Given the description of an element on the screen output the (x, y) to click on. 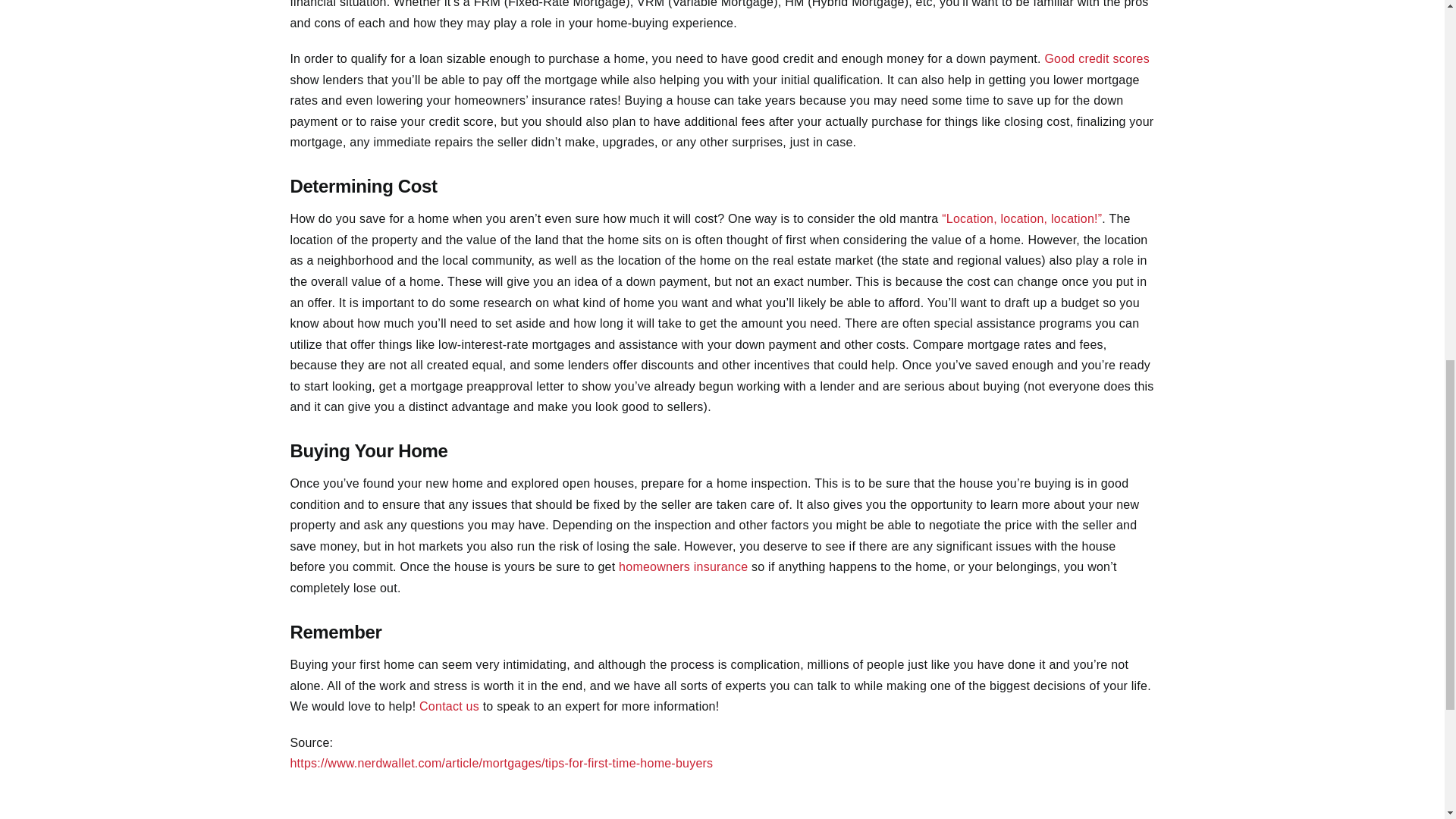
Contact us (449, 706)
homeowners insurance (683, 566)
Good credit scores (1096, 58)
